Given the description of an element on the screen output the (x, y) to click on. 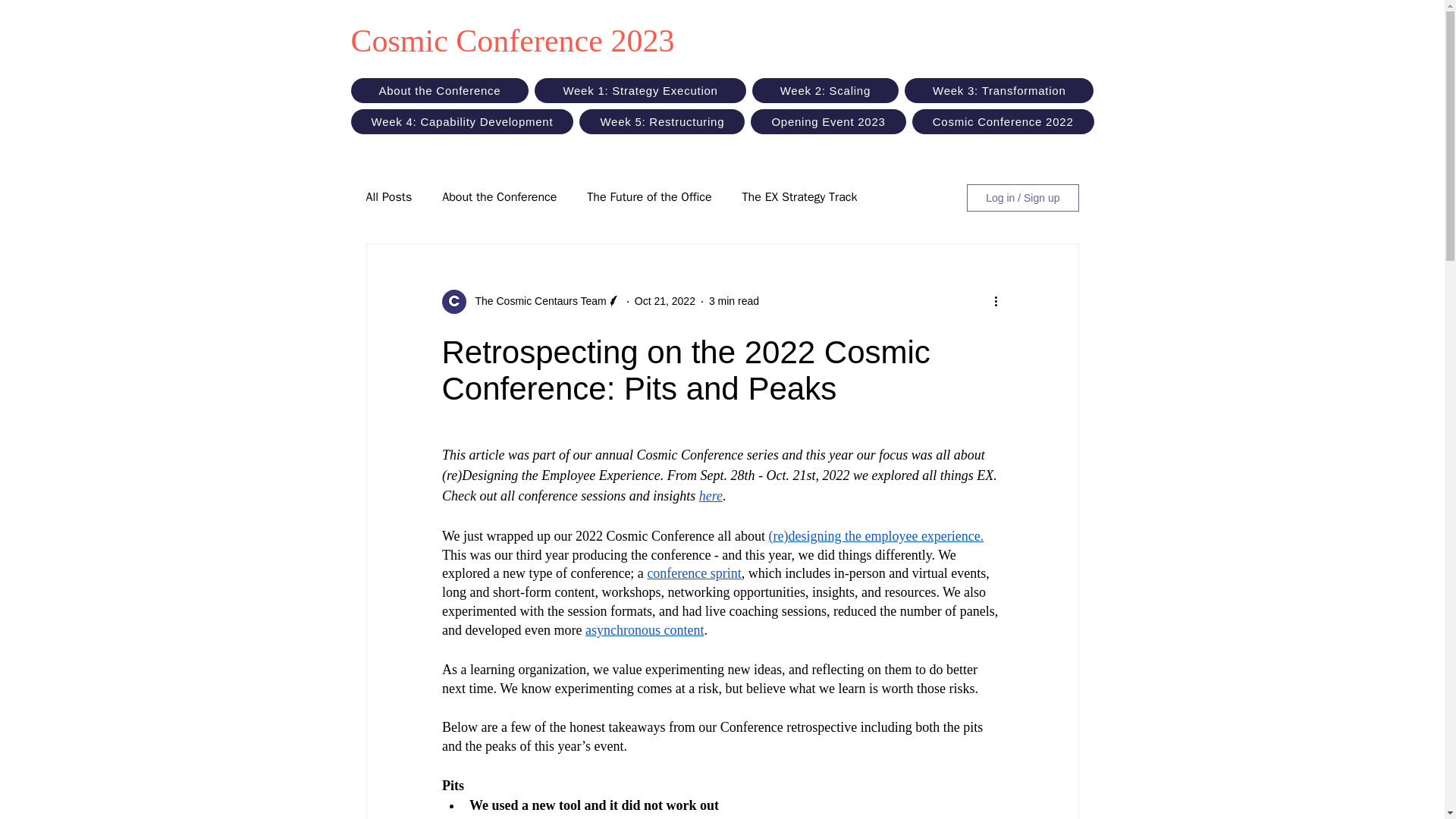
About the Conference (499, 197)
About the Conference (439, 90)
The EX Strategy Track (799, 197)
3 min read (733, 300)
Week 2: Scaling (825, 90)
Cosmic Conference 2022 (1003, 121)
Cosmic Conference 2023 (512, 40)
here (710, 495)
conference sprint (693, 572)
The Cosmic Centaurs Team (535, 301)
Week 4: Capability Development (461, 121)
All Posts (388, 197)
Opening Event 2023 (828, 121)
asynchronous content (644, 630)
Oct 21, 2022 (664, 300)
